Given the description of an element on the screen output the (x, y) to click on. 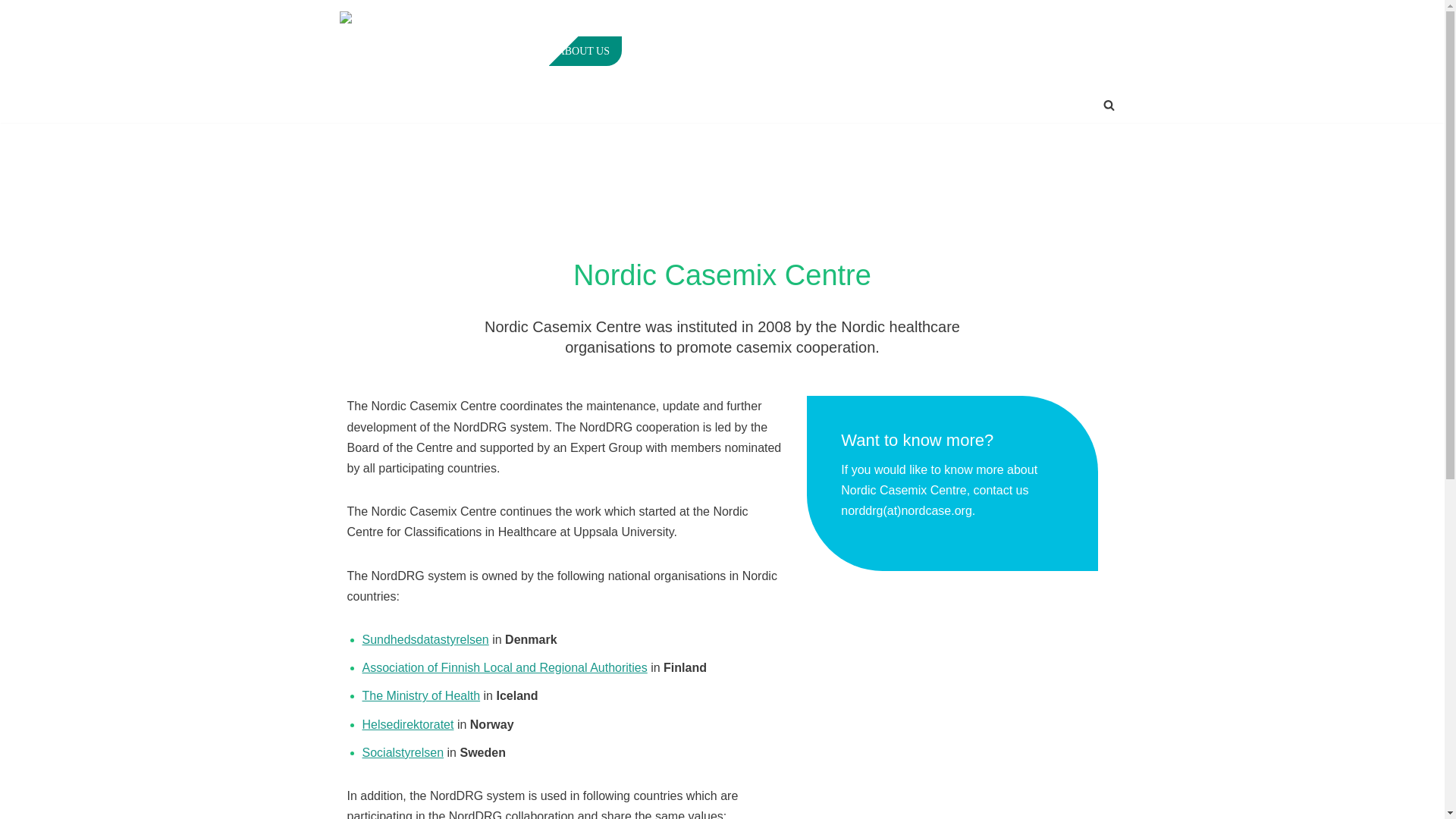
ABOUT US (583, 50)
Skip to content (11, 31)
MATERIALS (941, 50)
PRINCIPLES (663, 50)
CONTACT INFORMATION (1056, 50)
NORDDRG FORUM (763, 50)
PRODUCTS (858, 50)
